Given the description of an element on the screen output the (x, y) to click on. 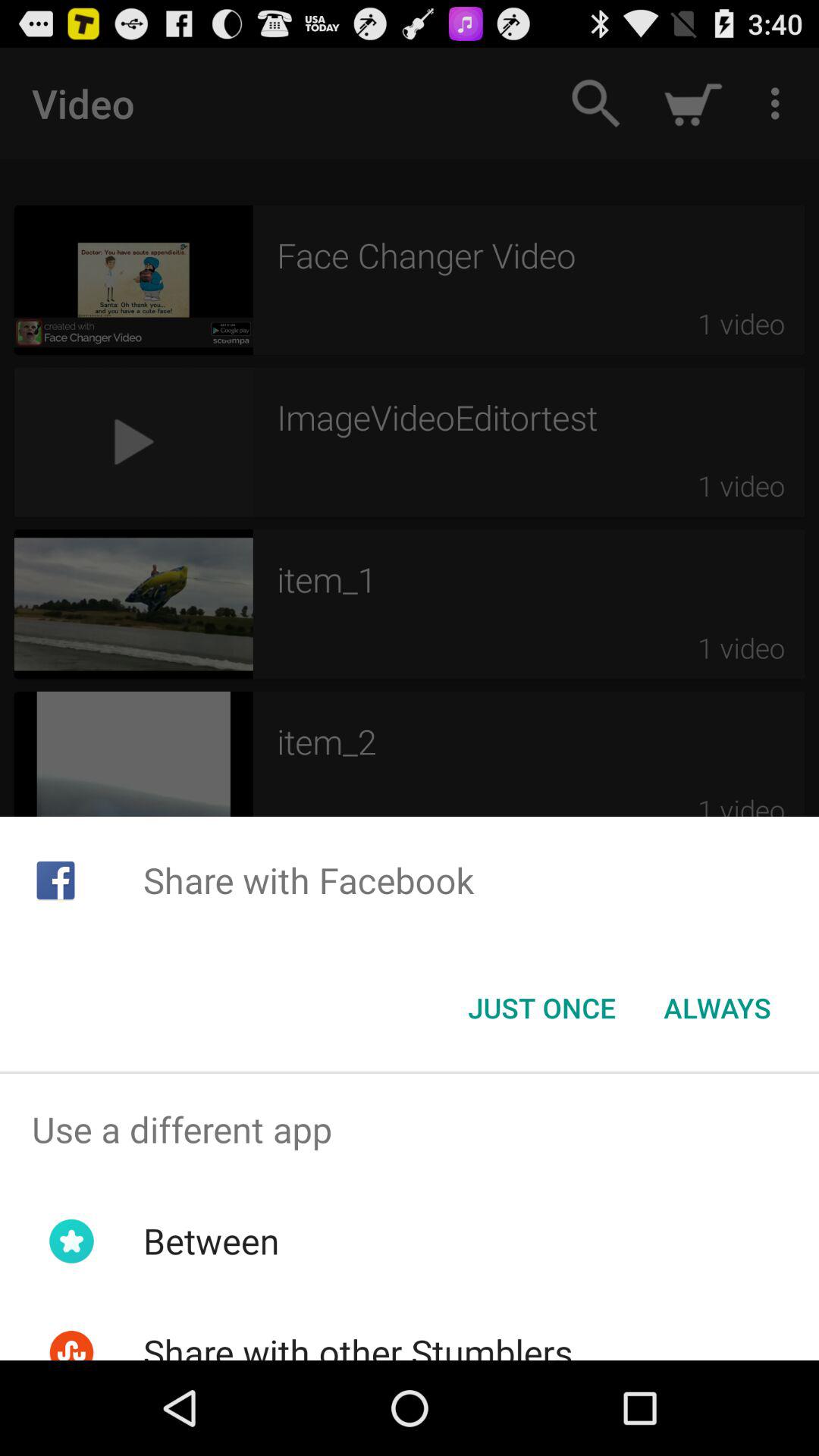
flip until just once icon (541, 1007)
